Given the description of an element on the screen output the (x, y) to click on. 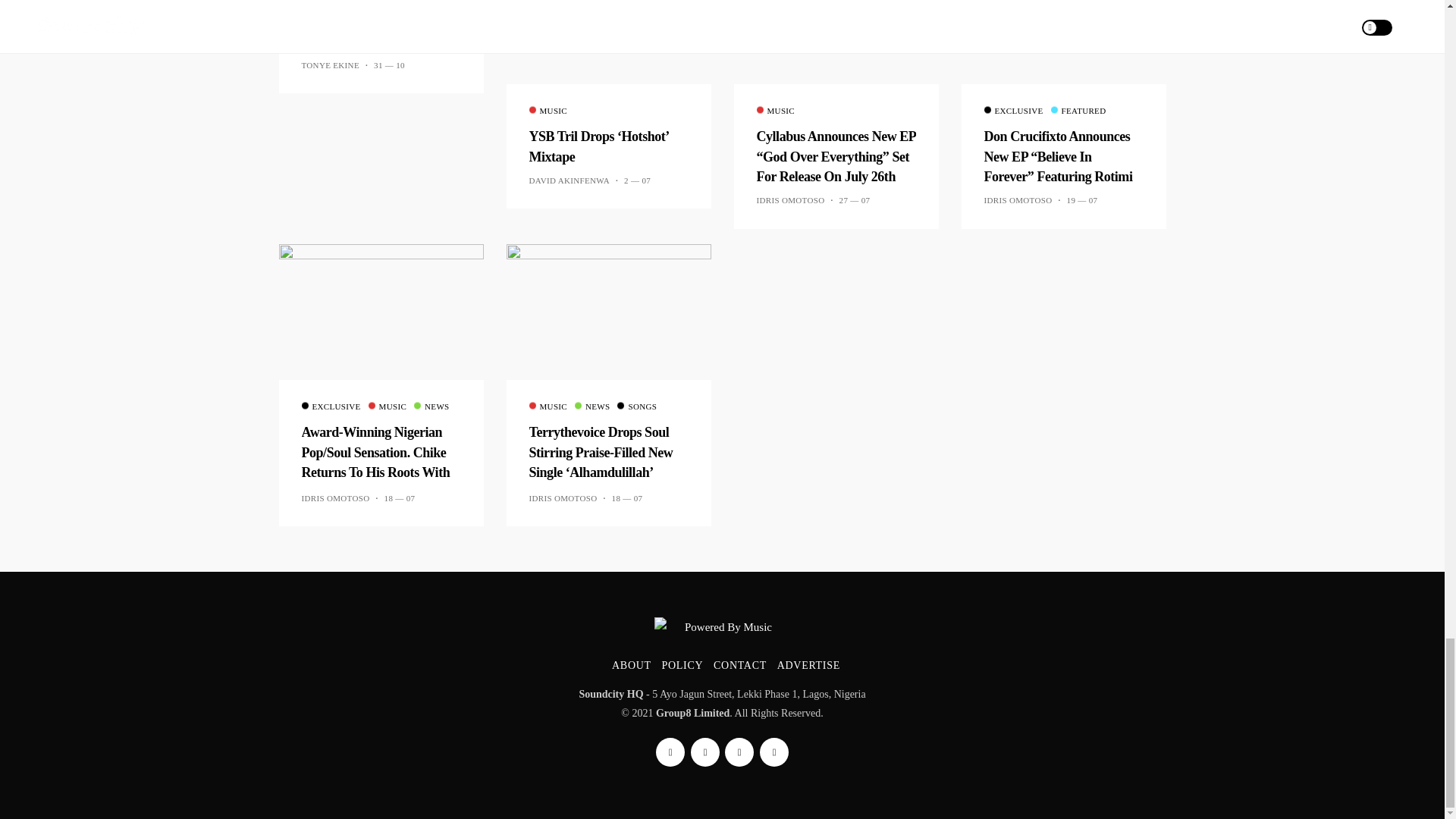
Posts by David Akinfenwa (569, 180)
Posts by Tonye Ekine (330, 64)
Posts by Idris Omotoso (791, 199)
Posts by Idris Omotoso (1018, 199)
